Given the description of an element on the screen output the (x, y) to click on. 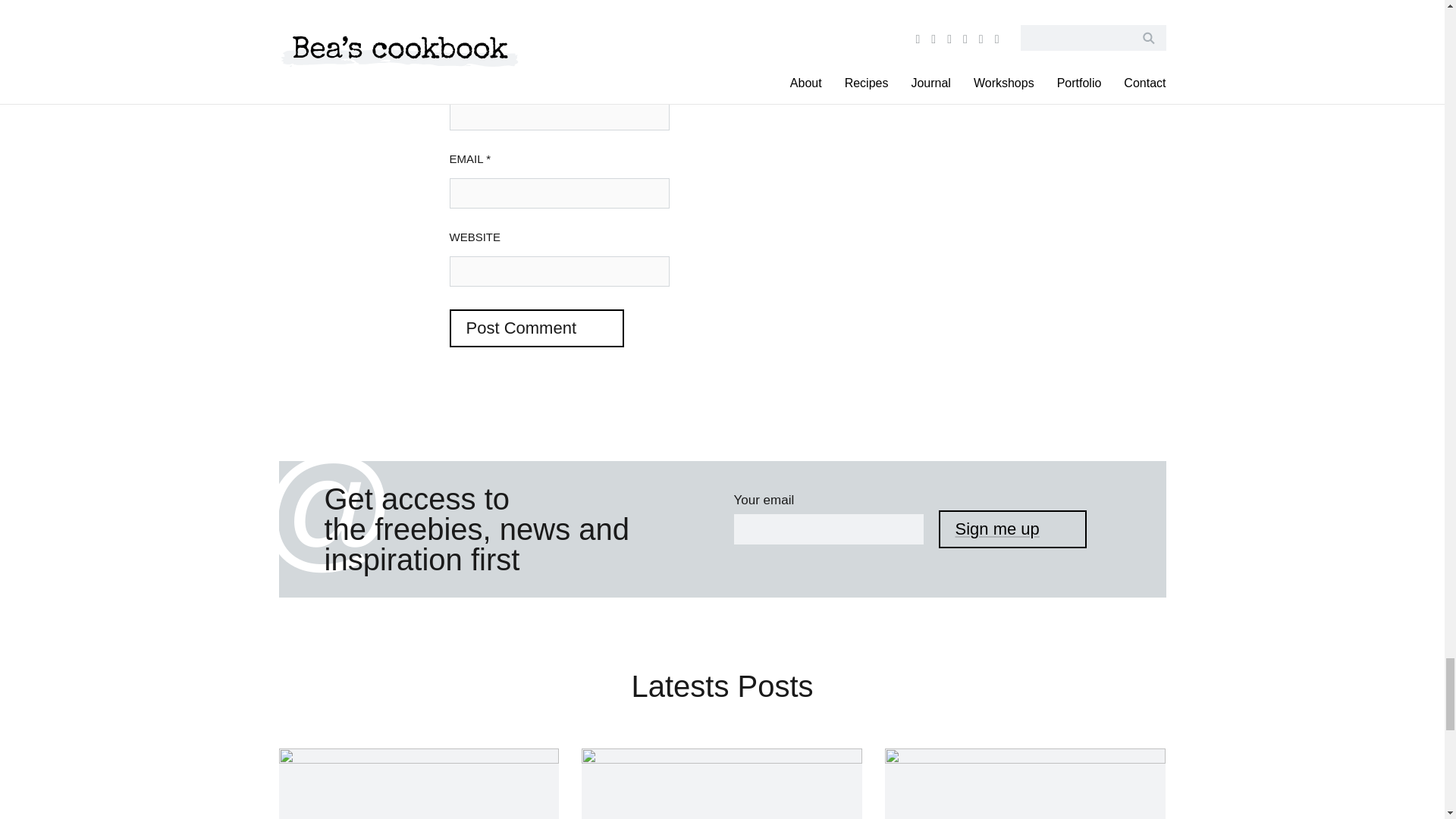
Post Comment (535, 328)
Post Comment (535, 328)
Sign me up (1012, 528)
